Given the description of an element on the screen output the (x, y) to click on. 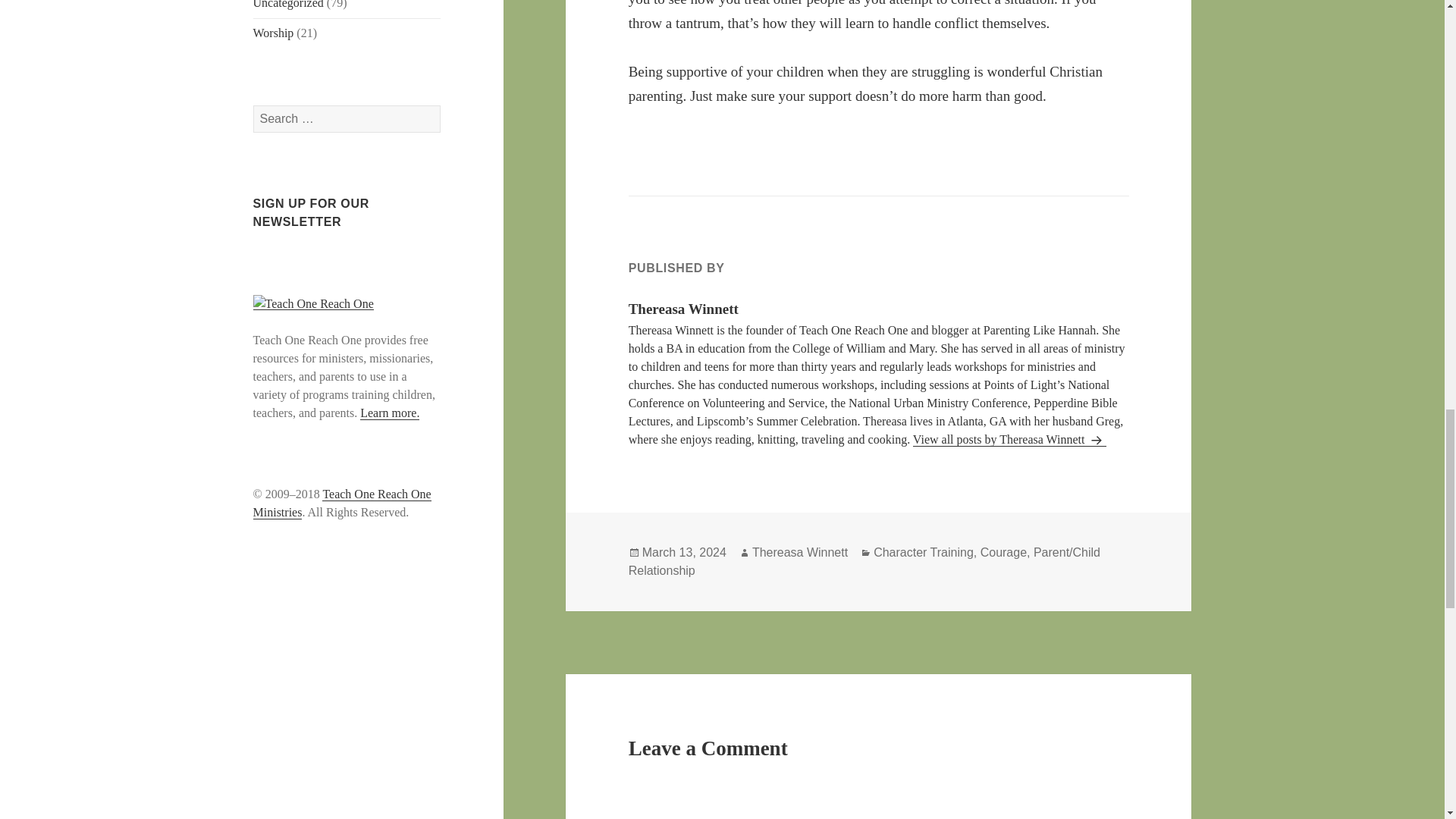
Comment Form (878, 801)
